Given the description of an element on the screen output the (x, y) to click on. 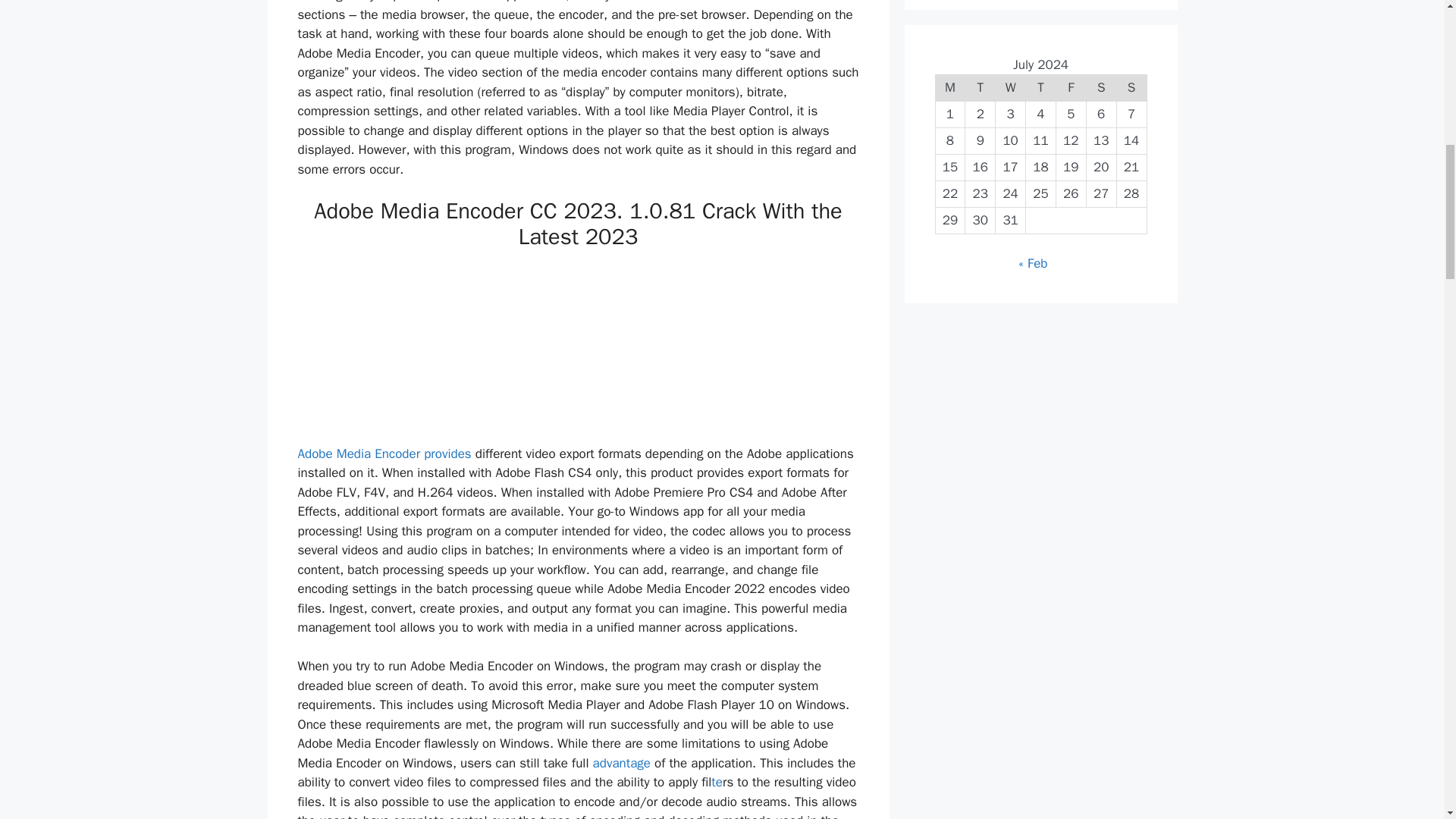
Adobe Media Encoder provides (383, 453)
advantage (621, 763)
